Given the description of an element on the screen output the (x, y) to click on. 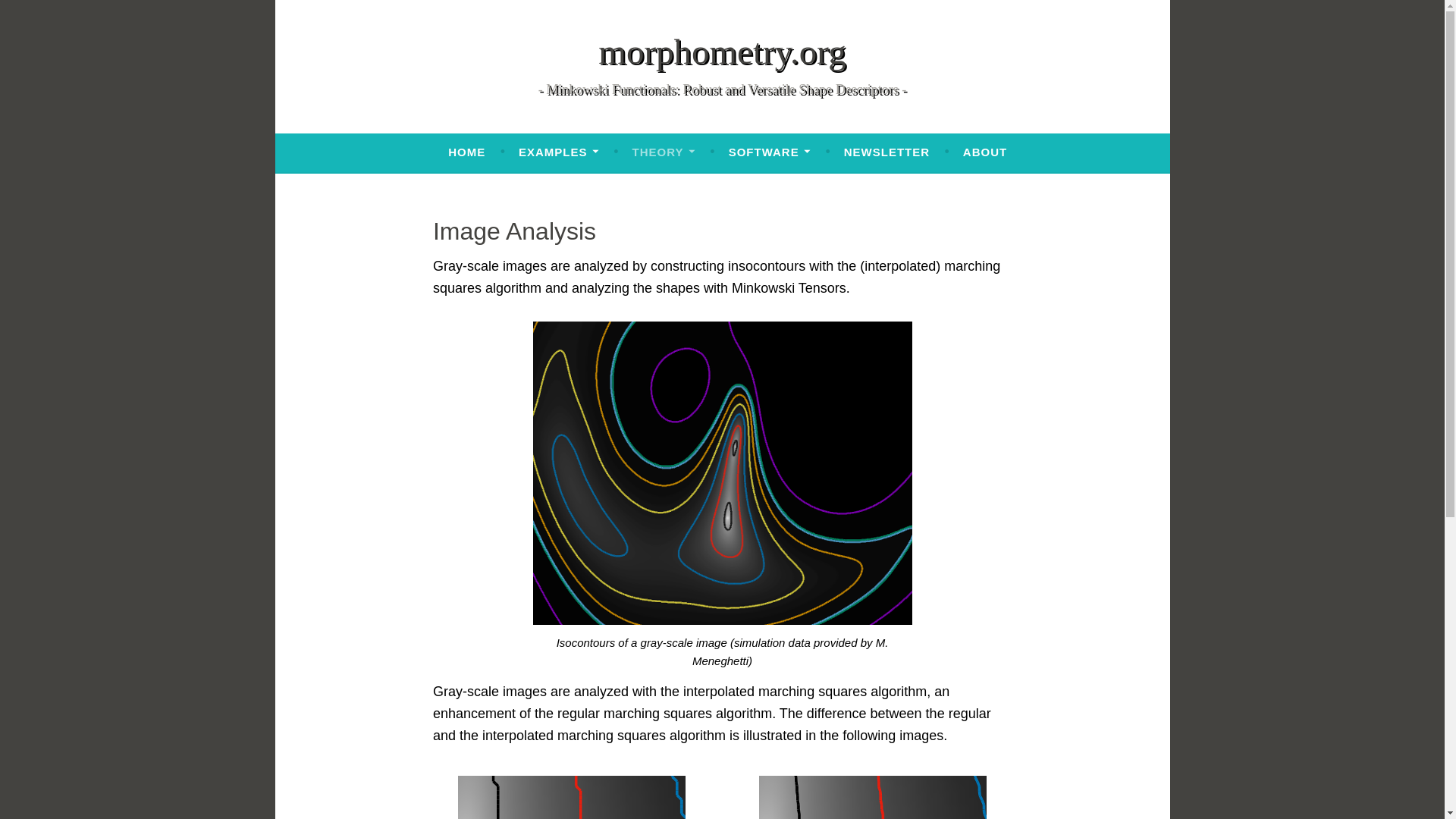
morphometry.org (721, 51)
ABOUT (984, 152)
HOME (466, 152)
EXAMPLES (558, 152)
NEWSLETTER (887, 152)
SOFTWARE (769, 152)
THEORY (663, 152)
